Given the description of an element on the screen output the (x, y) to click on. 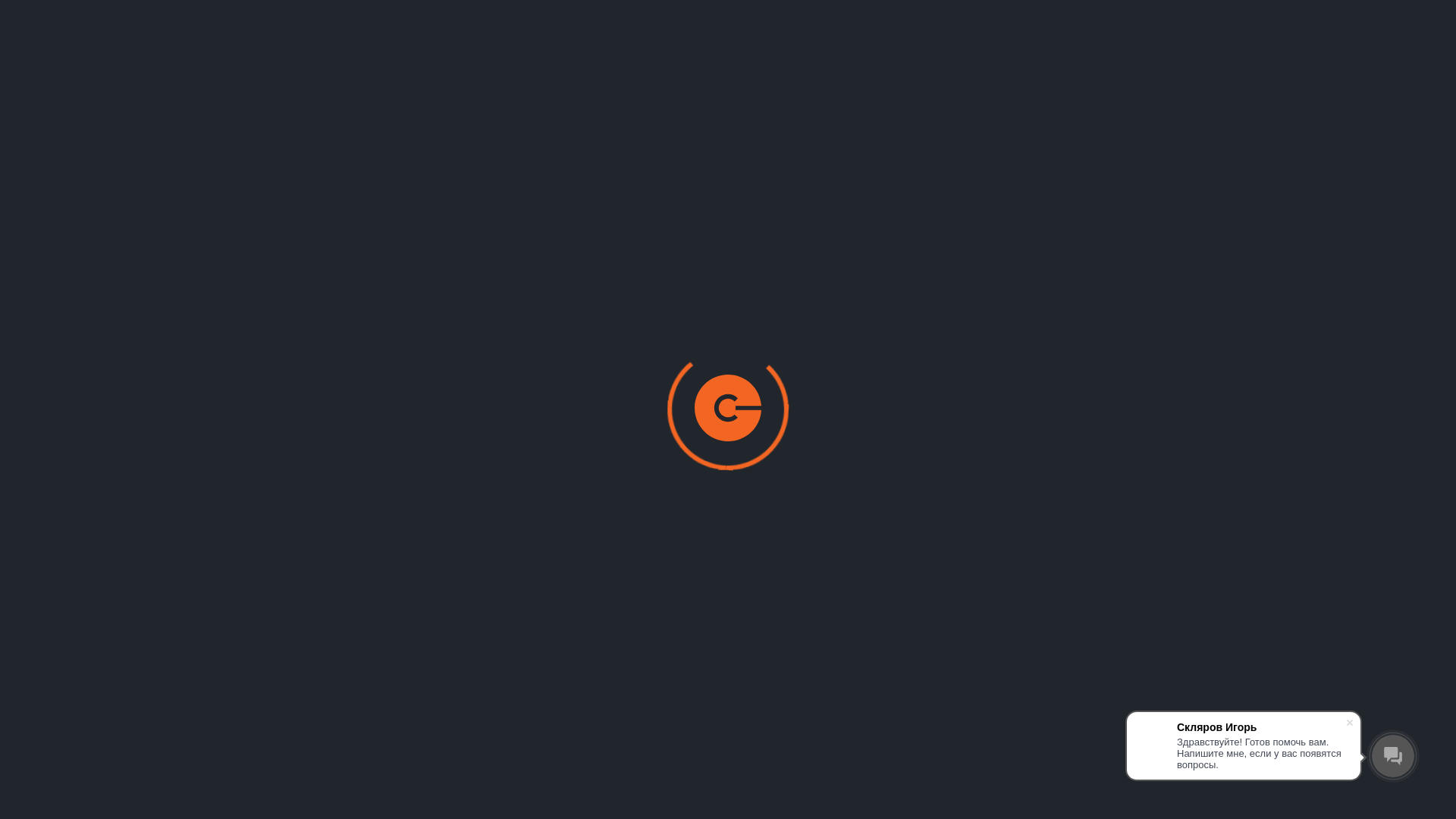
Comeforta Element type: text (93, 291)
info@comeforta.com Element type: text (1319, 79)
+7 499 553 01 67 Element type: text (1309, 61)
Comeforta Element type: hover (123, 61)
+375 22 570 86 33 Element type: text (1314, 43)
